Given the description of an element on the screen output the (x, y) to click on. 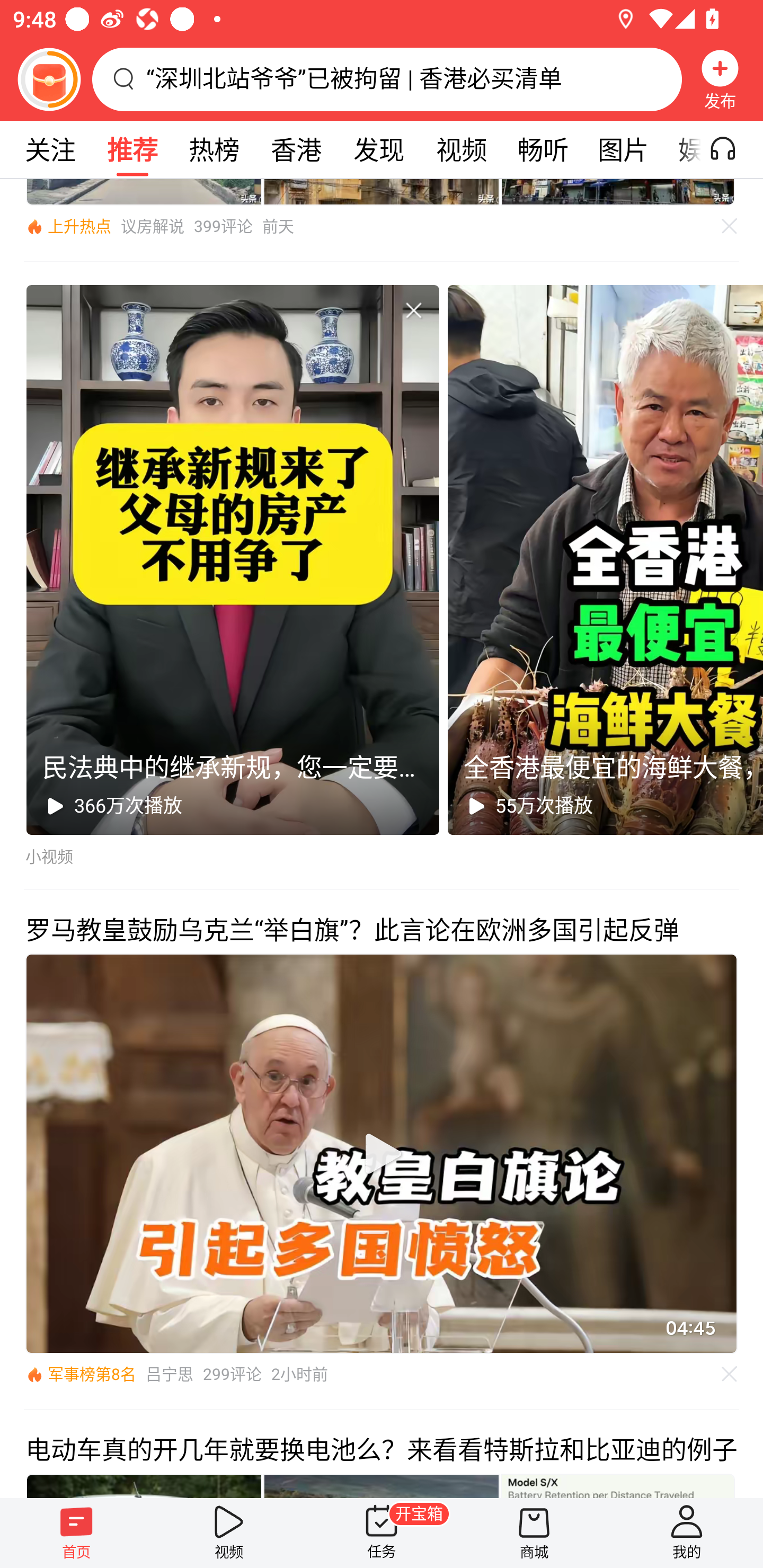
阅读赚金币 (48, 79)
“深圳北站爷爷”已被拘留 | 香港必买清单 搜索框，“深圳北站爷爷”已被拘留 | 香港必买清单 (387, 79)
发布 发布，按钮 (720, 78)
关注 (50, 149)
推荐 (132, 149)
热榜 (213, 149)
香港 (295, 149)
发现 (378, 149)
视频 (461, 149)
畅听 (542, 149)
图片 (623, 149)
听一听开关 (732, 149)
不感兴趣 (729, 225)
不感兴趣 (413, 310)
播放视频 视频播放器，双击屏幕打开播放控制 (381, 1153)
播放视频 (381, 1152)
不感兴趣 (729, 1373)
首页 (76, 1532)
视频 (228, 1532)
任务 开宝箱 (381, 1532)
商城 (533, 1532)
我的 (686, 1532)
